Given the description of an element on the screen output the (x, y) to click on. 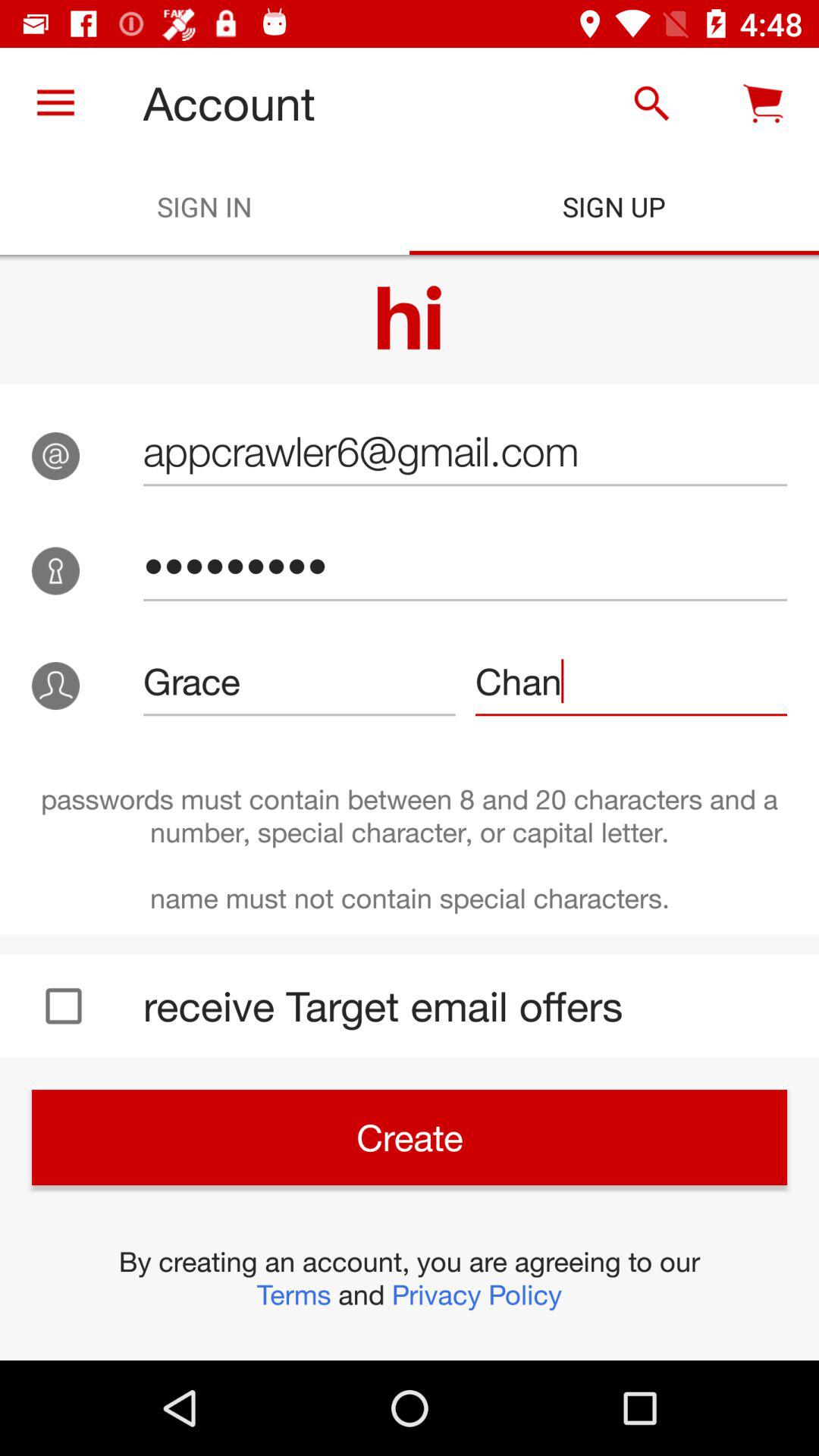
flip to chan item (631, 681)
